Given the description of an element on the screen output the (x, y) to click on. 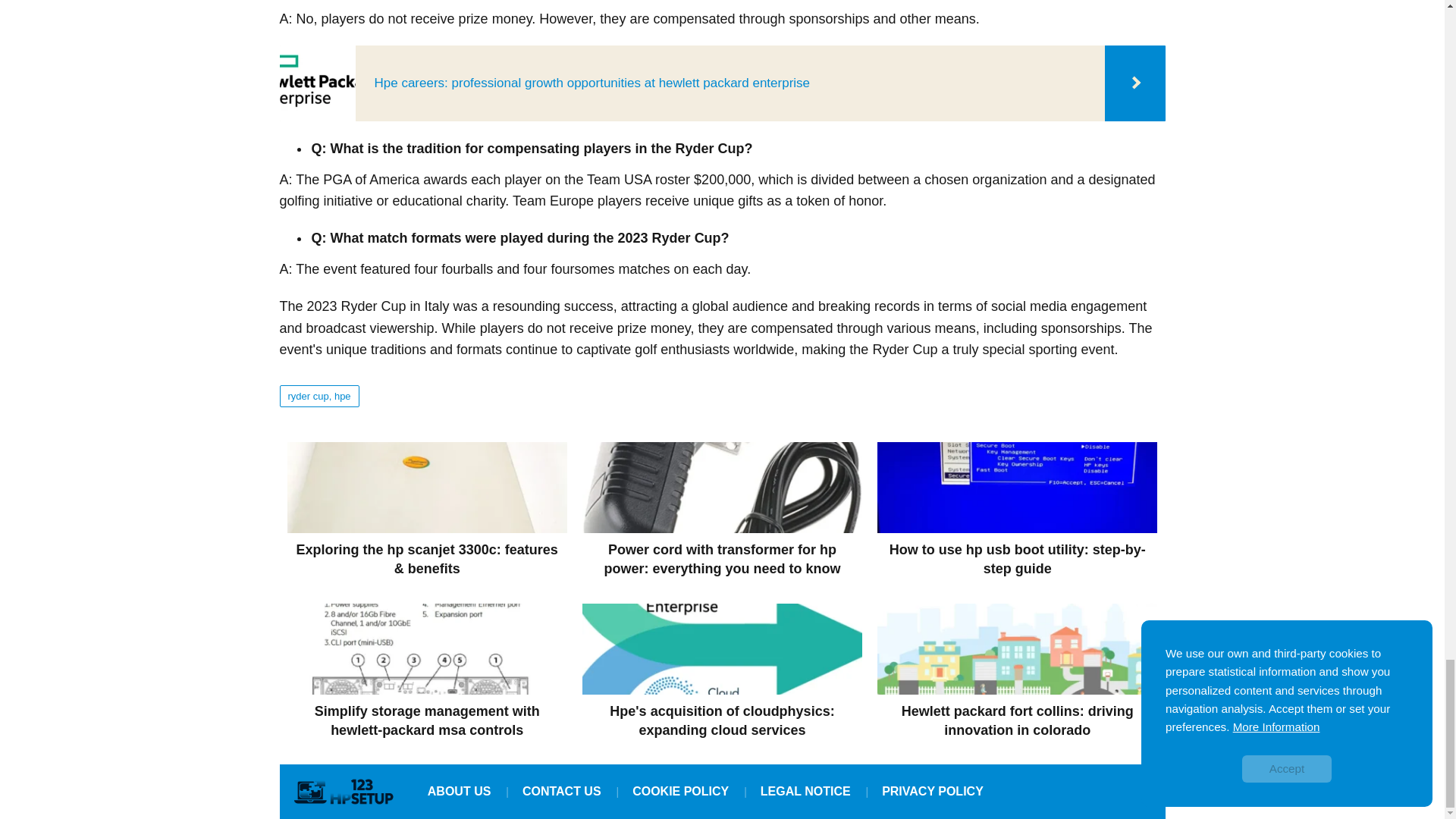
How to use hp usb boot utility: step-by-step guide (1017, 510)
Hpe's acquisition of cloudphysics: expanding cloud services (721, 671)
Hewlett packard fort collins: driving innovation in colorado (1017, 671)
COOKIE POLICY (680, 791)
ABOUT US (459, 791)
CONTACT US (561, 791)
LEGAL NOTICE (805, 791)
